Given the description of an element on the screen output the (x, y) to click on. 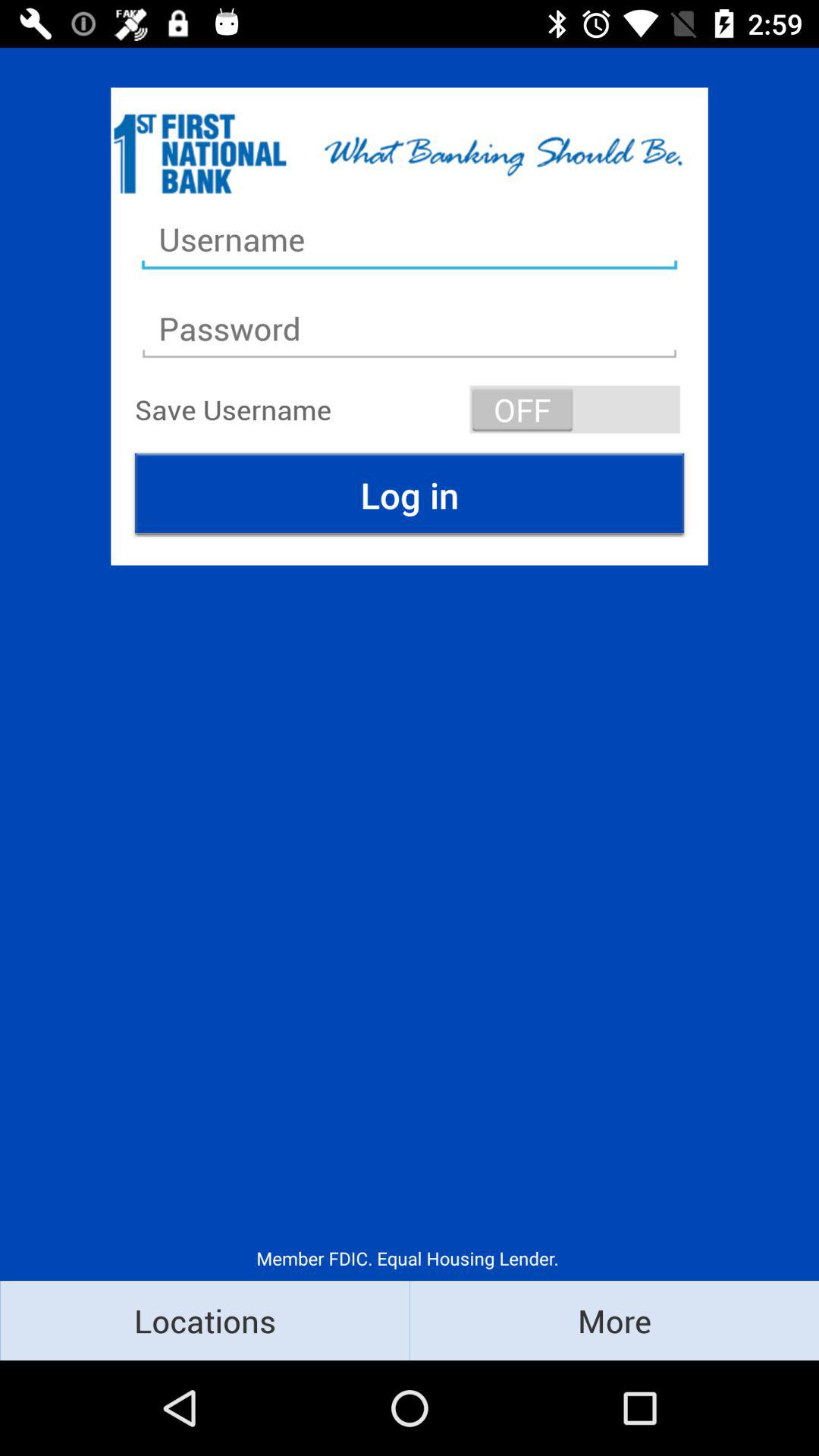
choose the log in icon (409, 494)
